Given the description of an element on the screen output the (x, y) to click on. 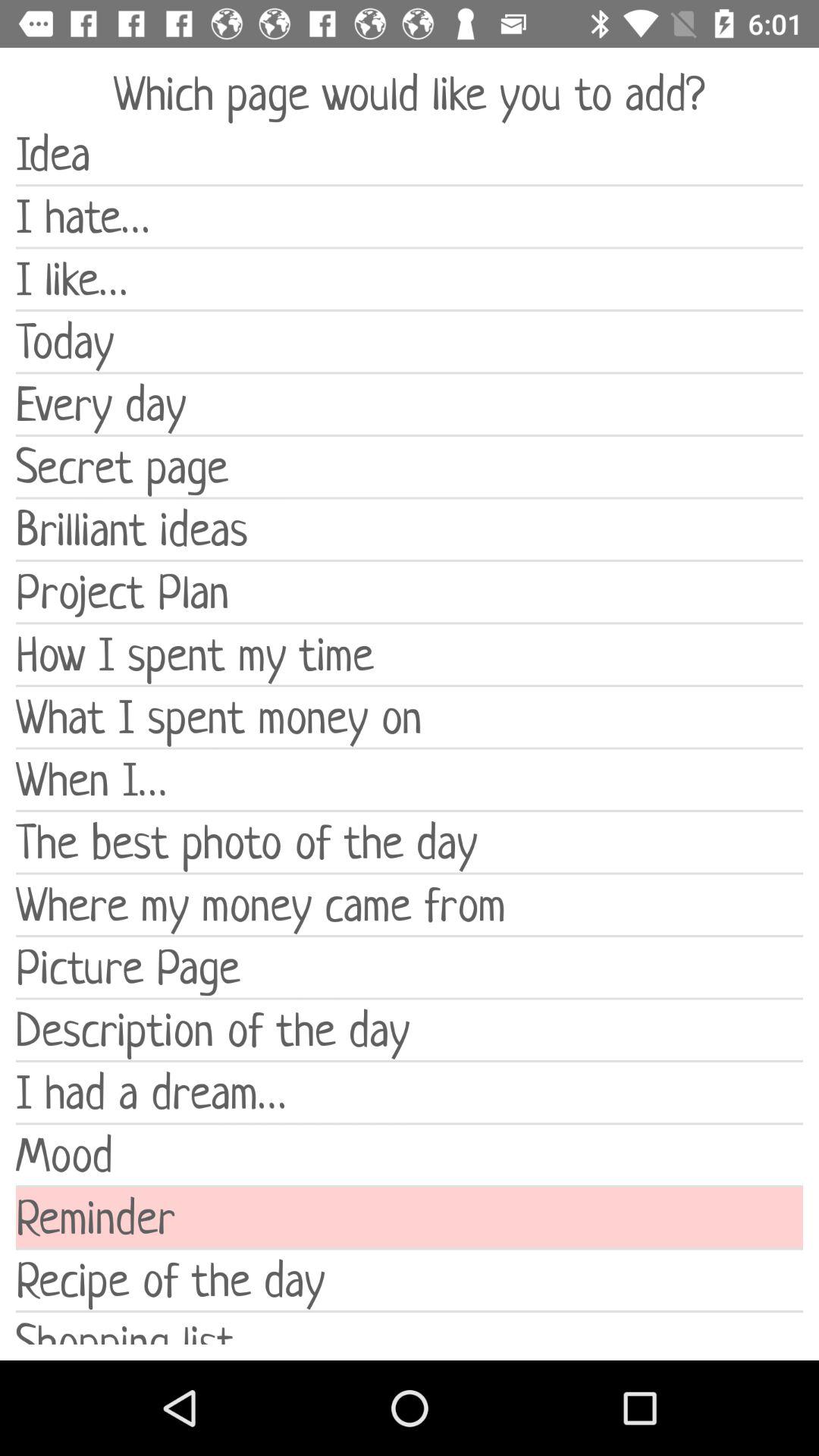
open icon above the where my money icon (409, 842)
